Given the description of an element on the screen output the (x, y) to click on. 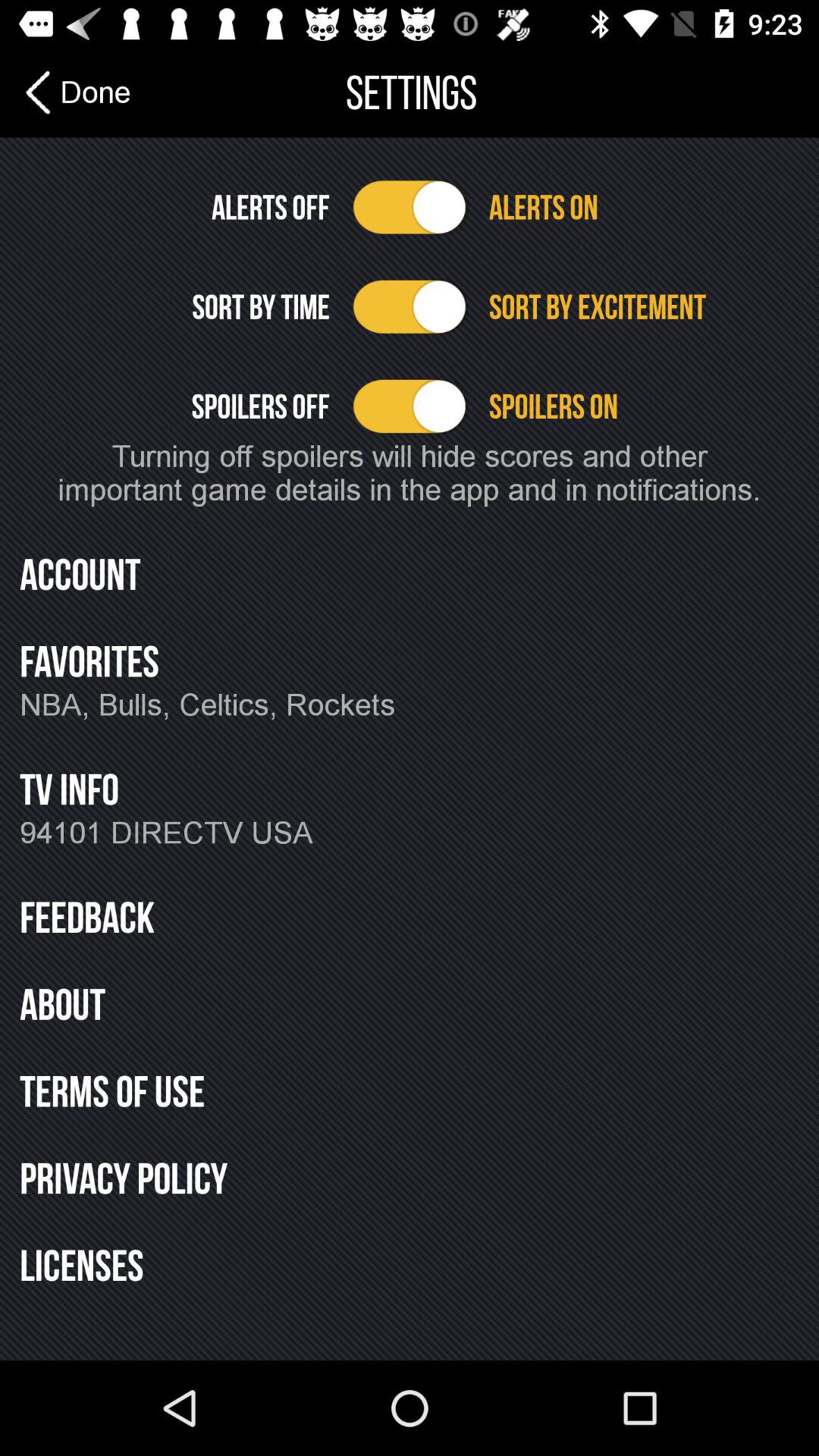
turn spoilers off (409, 406)
